Given the description of an element on the screen output the (x, y) to click on. 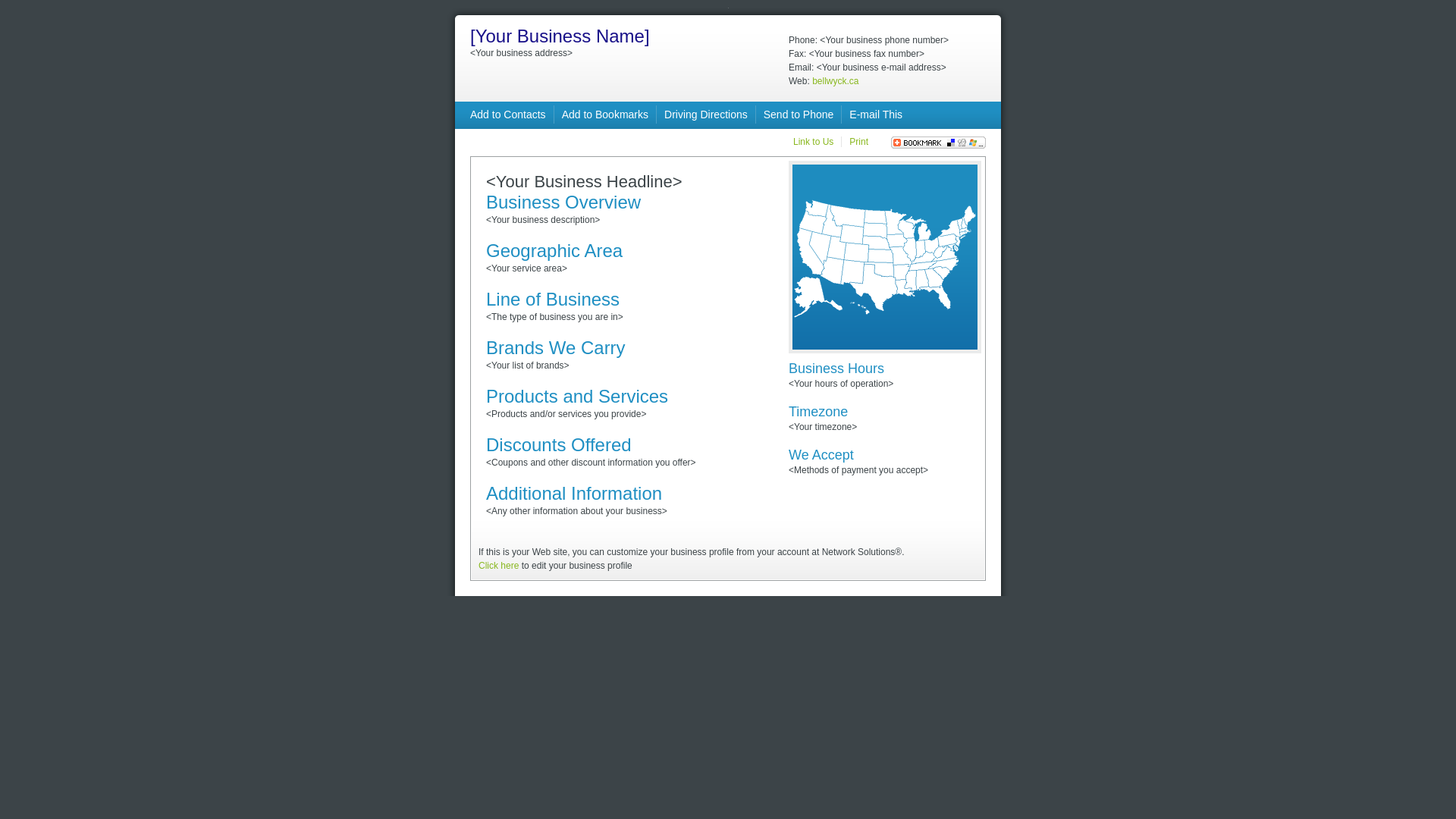
Add to Bookmarks Element type: text (604, 114)
E-mail This Element type: text (875, 114)
Print Element type: text (858, 141)
Add to Contacts Element type: text (508, 114)
Click here Element type: text (498, 565)
Send to Phone Element type: text (798, 114)
Link to Us Element type: text (813, 141)
bellwyck.ca Element type: text (835, 80)
Driving Directions Element type: text (705, 114)
